Given the description of an element on the screen output the (x, y) to click on. 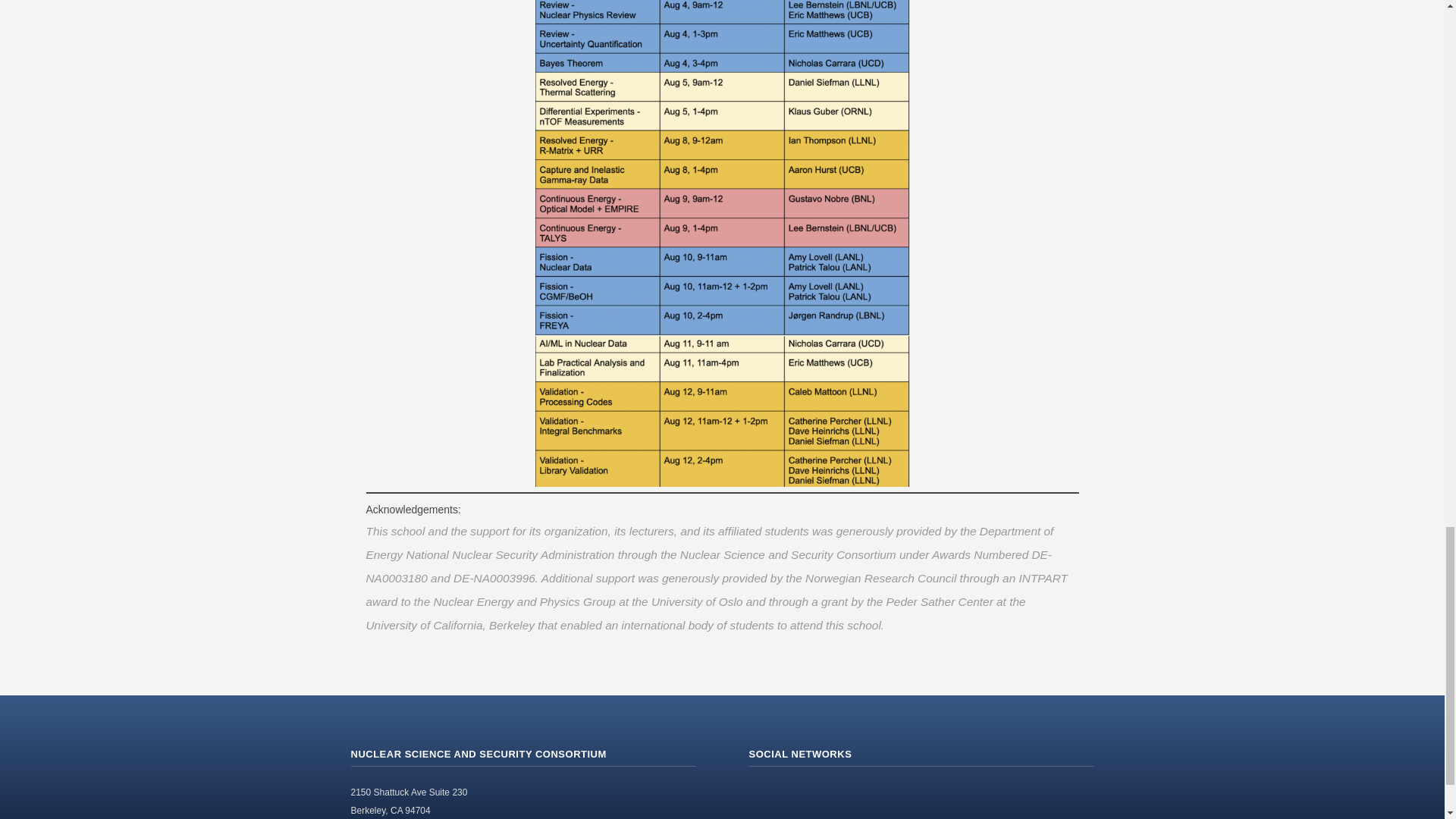
LinkedIn (860, 794)
RSS Feed (761, 794)
Twitter (794, 794)
YouTube (827, 794)
